Given the description of an element on the screen output the (x, y) to click on. 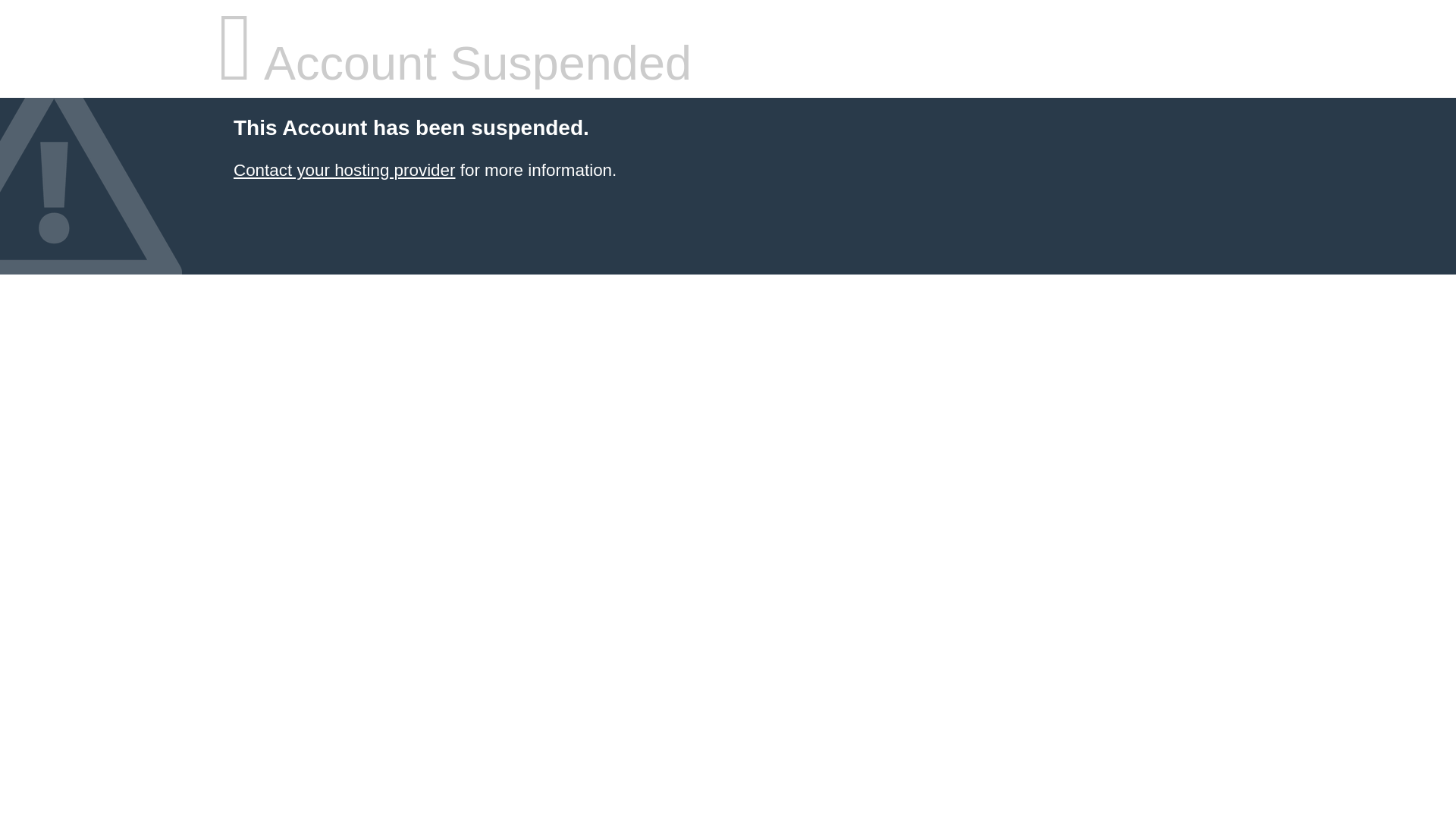
Contact your hosting provider (343, 169)
